Given the description of an element on the screen output the (x, y) to click on. 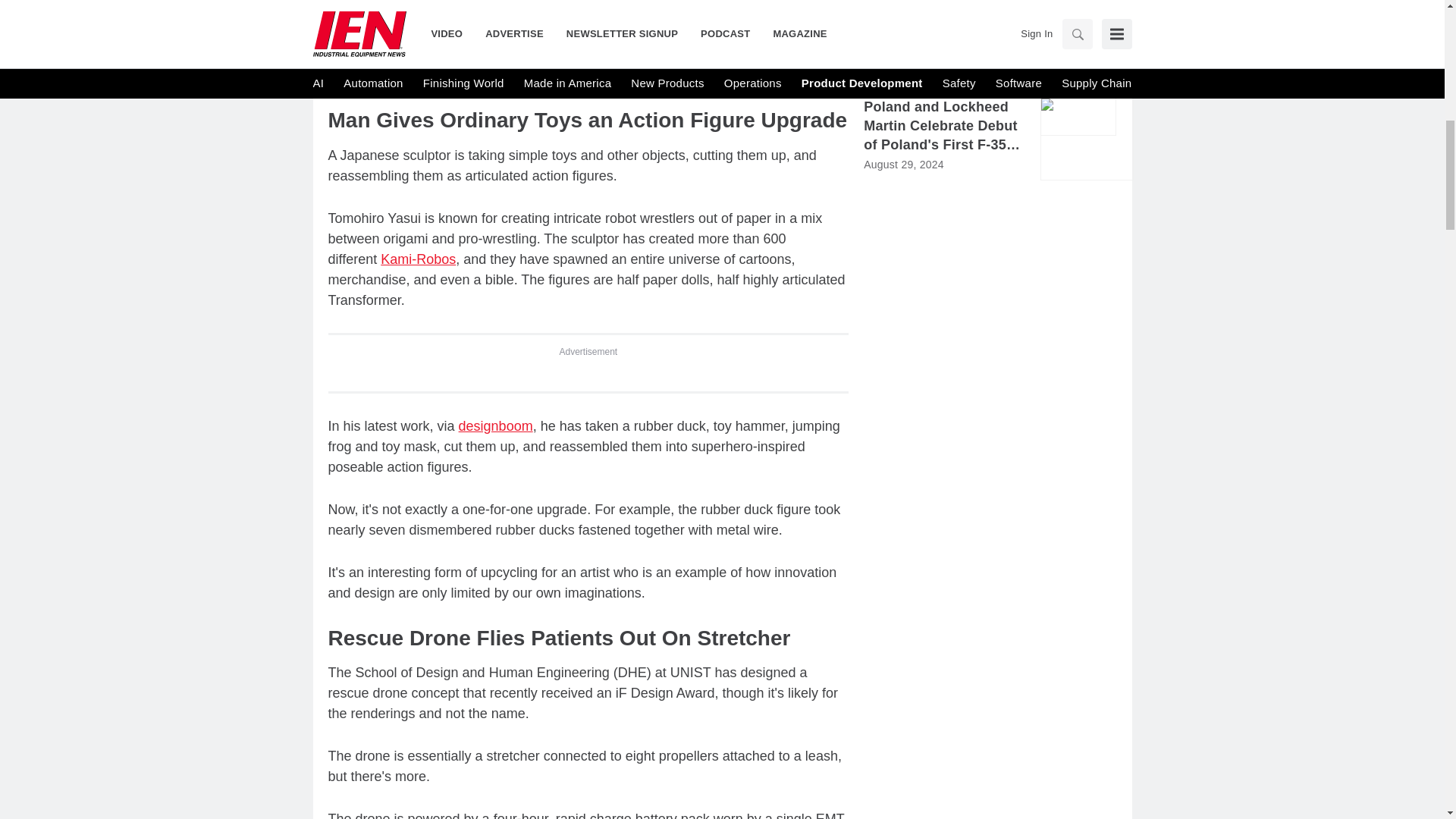
Unmute (390, 17)
Play (348, 17)
Share (784, 17)
